Given the description of an element on the screen output the (x, y) to click on. 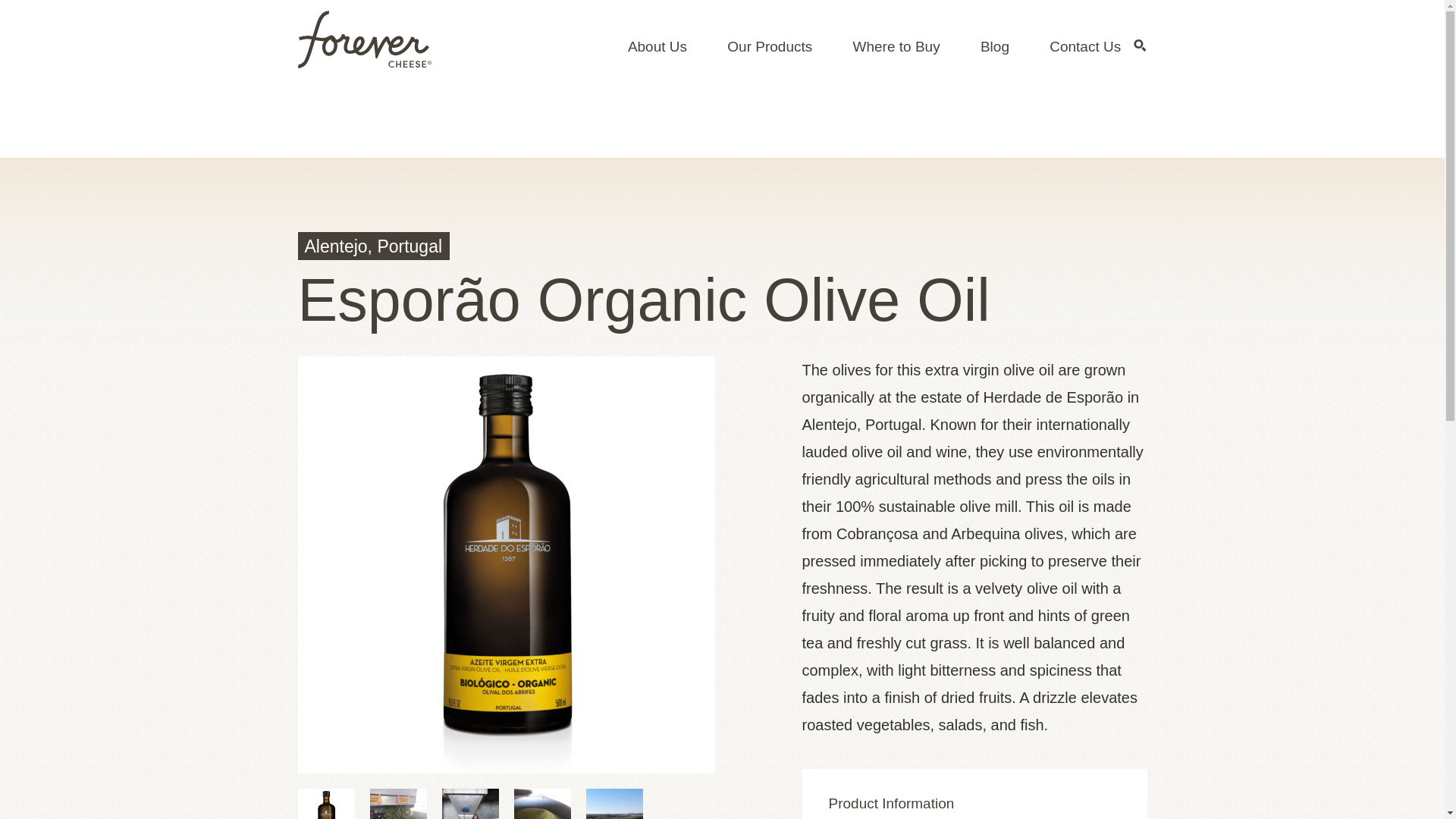
Where to Buy (896, 46)
About Us (657, 46)
Contact Us (1085, 46)
Blog (994, 46)
Our Products (769, 46)
